Given the description of an element on the screen output the (x, y) to click on. 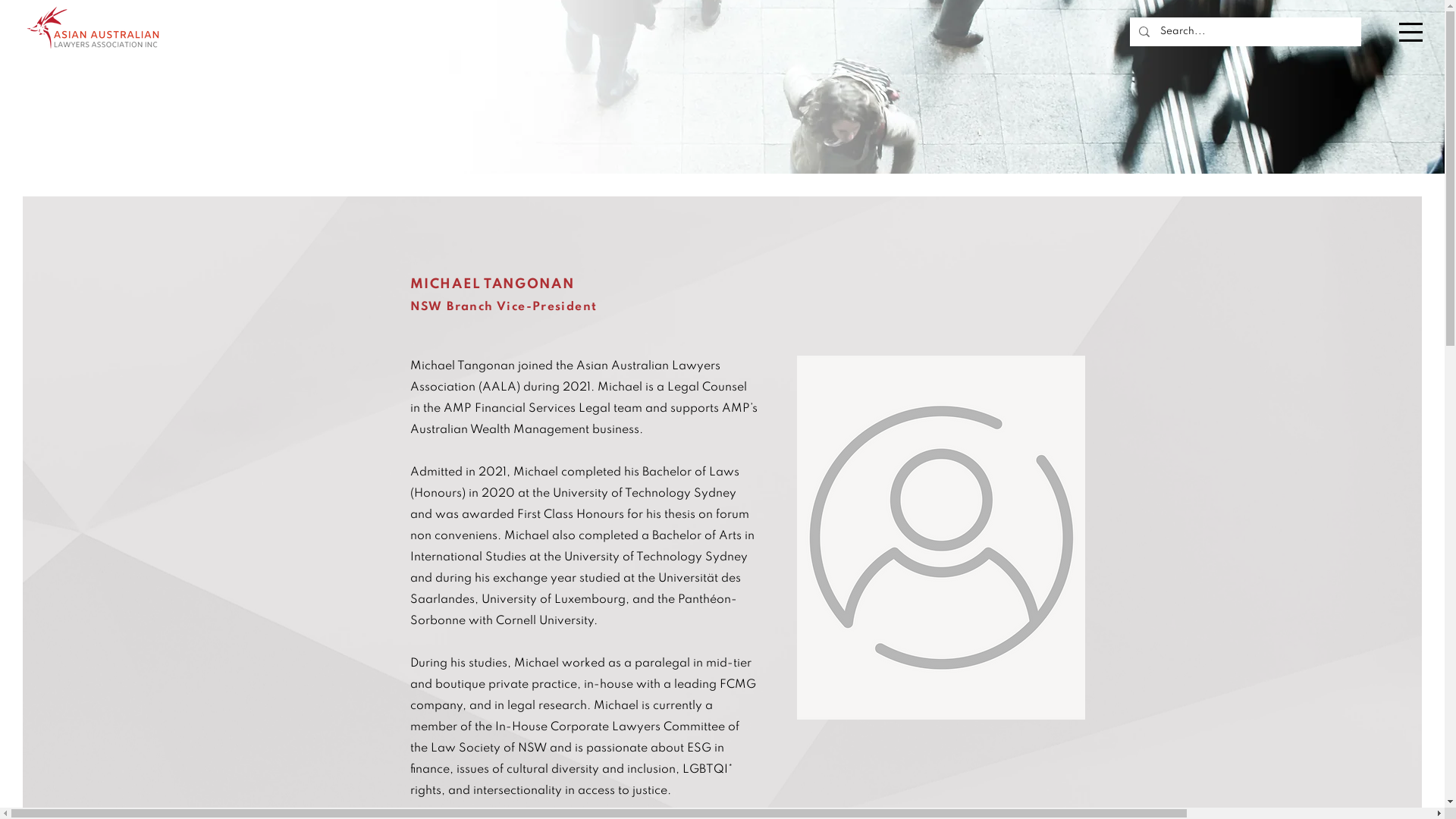
Placeholder.png Element type: hover (940, 537)
